Given the description of an element on the screen output the (x, y) to click on. 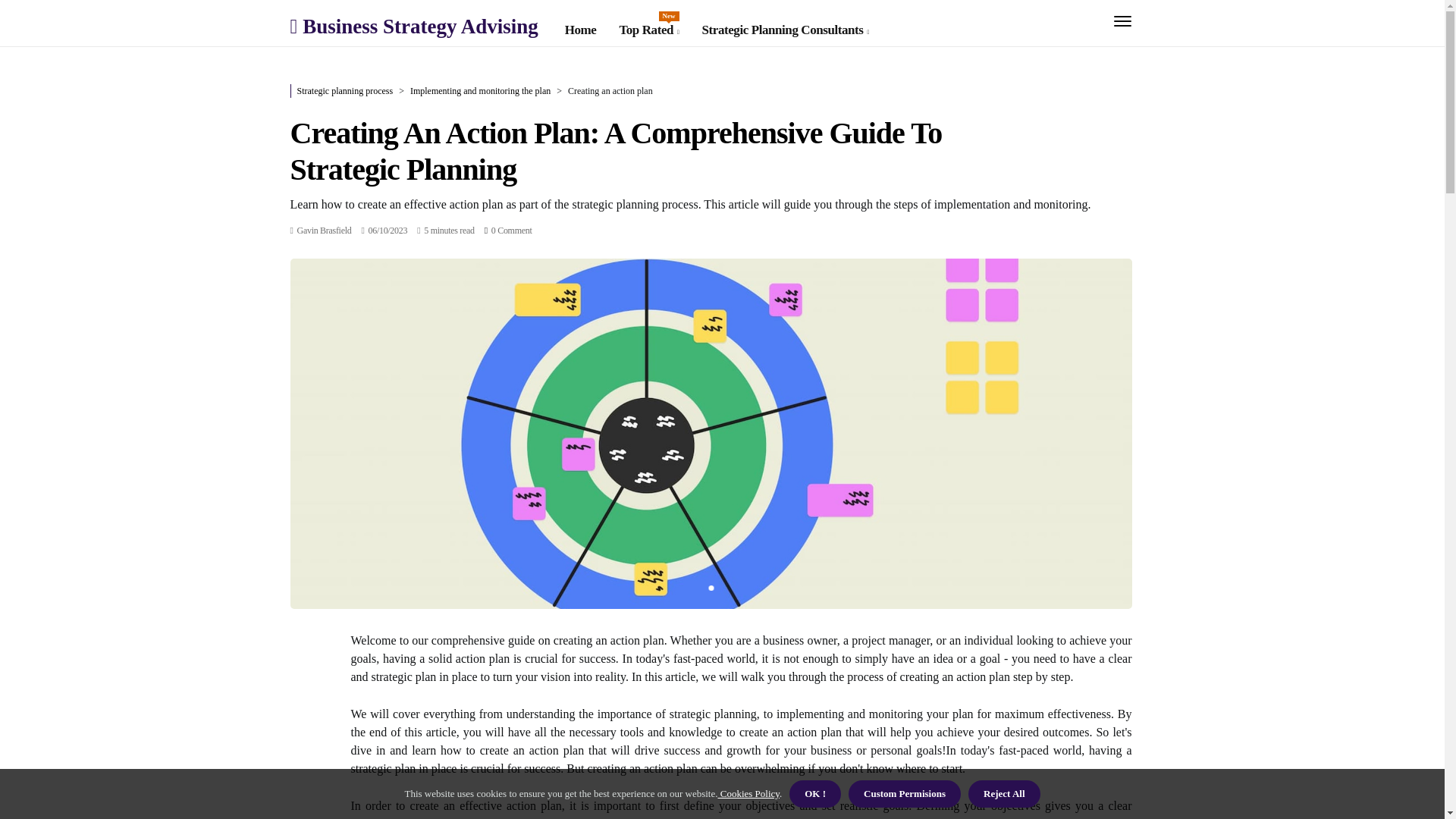
Posts by Gavin Brasfield (648, 30)
Business Strategy Advising (324, 229)
Strategic Planning Consultants (413, 26)
